Given the description of an element on the screen output the (x, y) to click on. 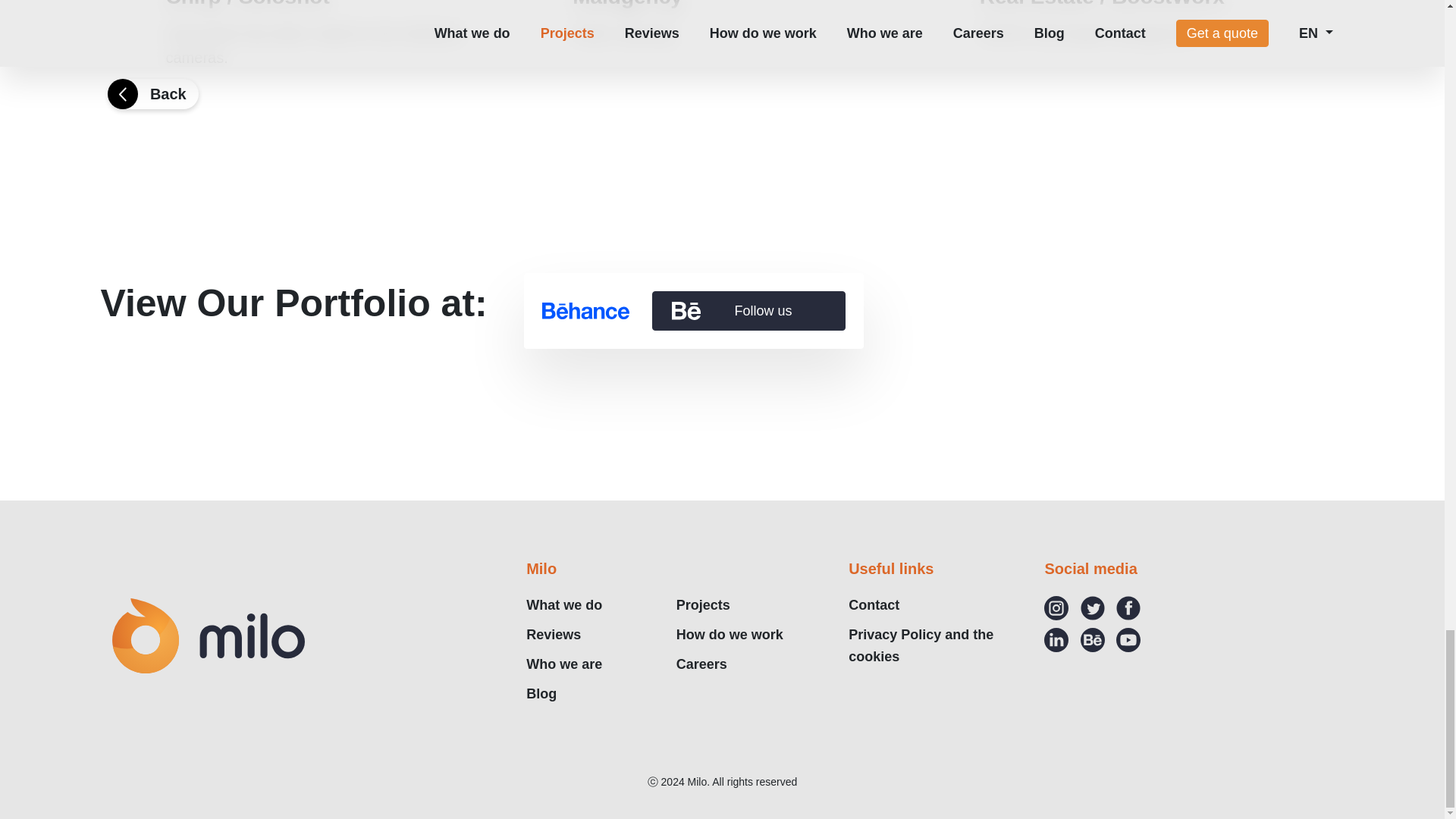
Projects (721, 51)
Blog (703, 604)
Careers (540, 693)
Follow us (701, 663)
Privacy Policy and the cookies (693, 310)
Contact (920, 645)
How do we work (873, 604)
Who we are (730, 634)
What we do (563, 663)
